Given the description of an element on the screen output the (x, y) to click on. 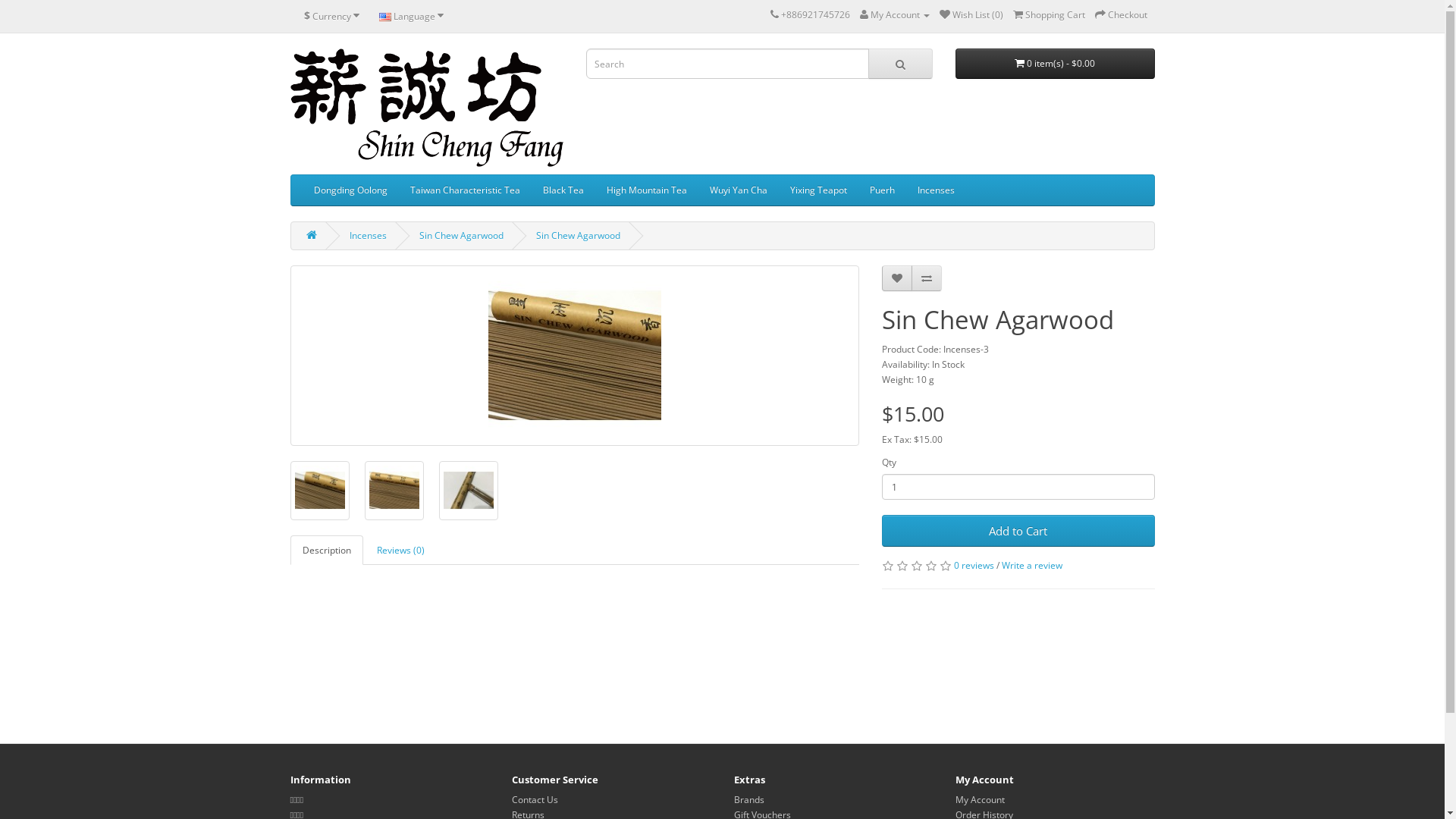
Language Element type: text (410, 15)
Sin Chew Agarwood Element type: hover (573, 355)
Brands Element type: text (749, 799)
My Account Element type: text (979, 799)
0 reviews Element type: text (973, 564)
Reviews (0) Element type: text (400, 549)
Sin Chew Agarwood Element type: hover (319, 490)
Dongding Oolong Element type: text (349, 190)
Wuyi Yan Cha Element type: text (737, 190)
Sin Chew Agarwood Element type: hover (574, 355)
Taiwan Characteristic Tea Element type: text (464, 190)
English Element type: hover (385, 16)
$ Currency Element type: text (331, 15)
Contact Us Element type: text (534, 799)
Write a review Element type: text (1031, 564)
Description Element type: text (325, 549)
Sin Chew Agarwood Element type: hover (467, 490)
Incenses Element type: text (935, 190)
Sin Chew Agarwood Element type: hover (318, 490)
Sin Chew Agarwood Element type: hover (393, 490)
Yixing Teapot Element type: text (817, 190)
Shopping Cart Element type: text (1049, 14)
Sin Chew Agarwood Element type: text (577, 235)
High Mountain Tea Element type: text (645, 190)
Add to Cart Element type: text (1017, 530)
Puerh Element type: text (882, 190)
Checkout Element type: text (1121, 14)
Black Tea Element type: text (562, 190)
Sin Chew Agarwood Element type: text (460, 235)
Wish List (0) Element type: text (970, 14)
0 item(s) - $0.00 Element type: text (1054, 63)
My Account Element type: text (894, 14)
Sin Chew Agarwood Element type: hover (393, 490)
Incenses Element type: text (366, 235)
Sin Chew Agarwood Element type: hover (467, 490)
